Given the description of an element on the screen output the (x, y) to click on. 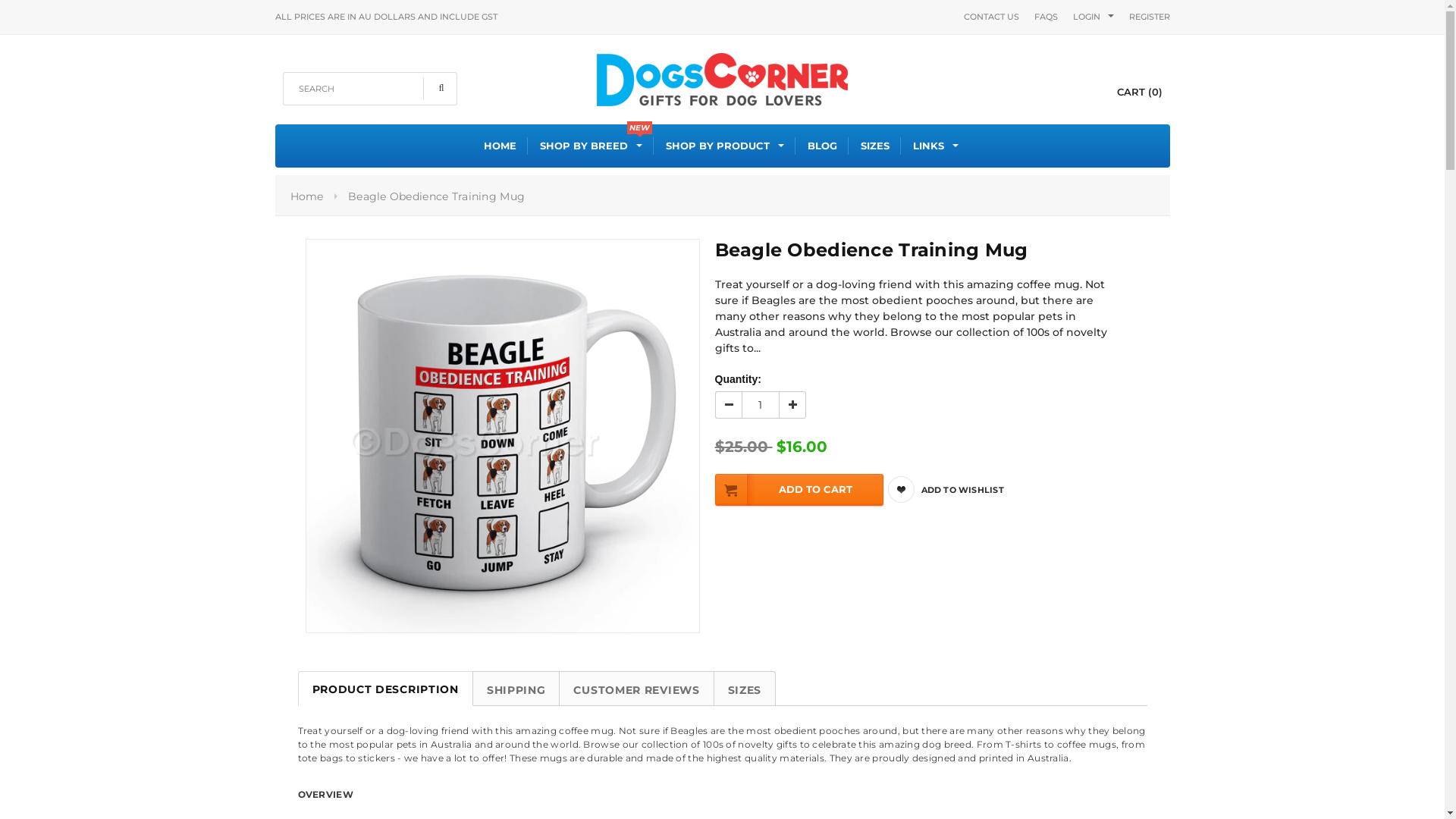
SHOP BY BREED Element type: text (590, 145)
SHIPPING Element type: text (516, 688)
CONTACT US Element type: text (990, 16)
Search Element type: text (440, 88)
Home Element type: text (306, 196)
ADD TO WISHLIST Element type: text (959, 489)
Add to Cart Element type: text (798, 489)
logo Element type: hover (721, 77)
CUSTOMER REVIEWS Element type: text (635, 688)
PRODUCT DESCRIPTION Element type: text (384, 688)
LINKS Element type: text (935, 145)
BLOG Element type: text (822, 145)
REGISTER Element type: text (1148, 16)
SHOP BY PRODUCT Element type: text (724, 145)
  CART (0) Element type: text (1126, 91)
SIZES Element type: text (744, 688)
LOGIN Element type: text (1085, 16)
FAQS Element type: text (1045, 16)
SIZES Element type: text (874, 145)
HOME Element type: text (499, 145)
